Given the description of an element on the screen output the (x, y) to click on. 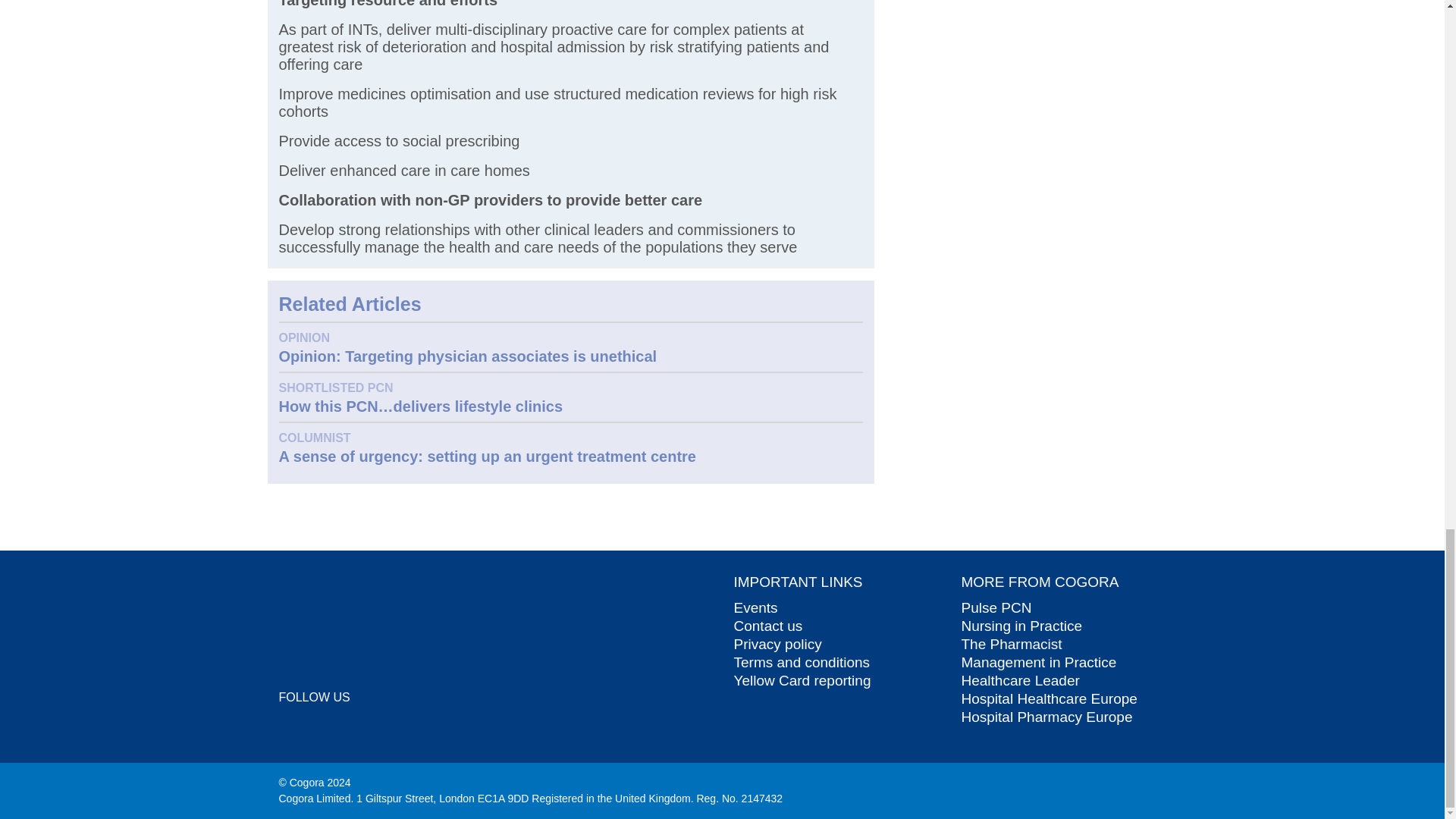
Events (755, 607)
Privacy policy (777, 643)
Yellow Card reporting (801, 680)
Terms and conditions (801, 662)
Contact us (768, 625)
